Given the description of an element on the screen output the (x, y) to click on. 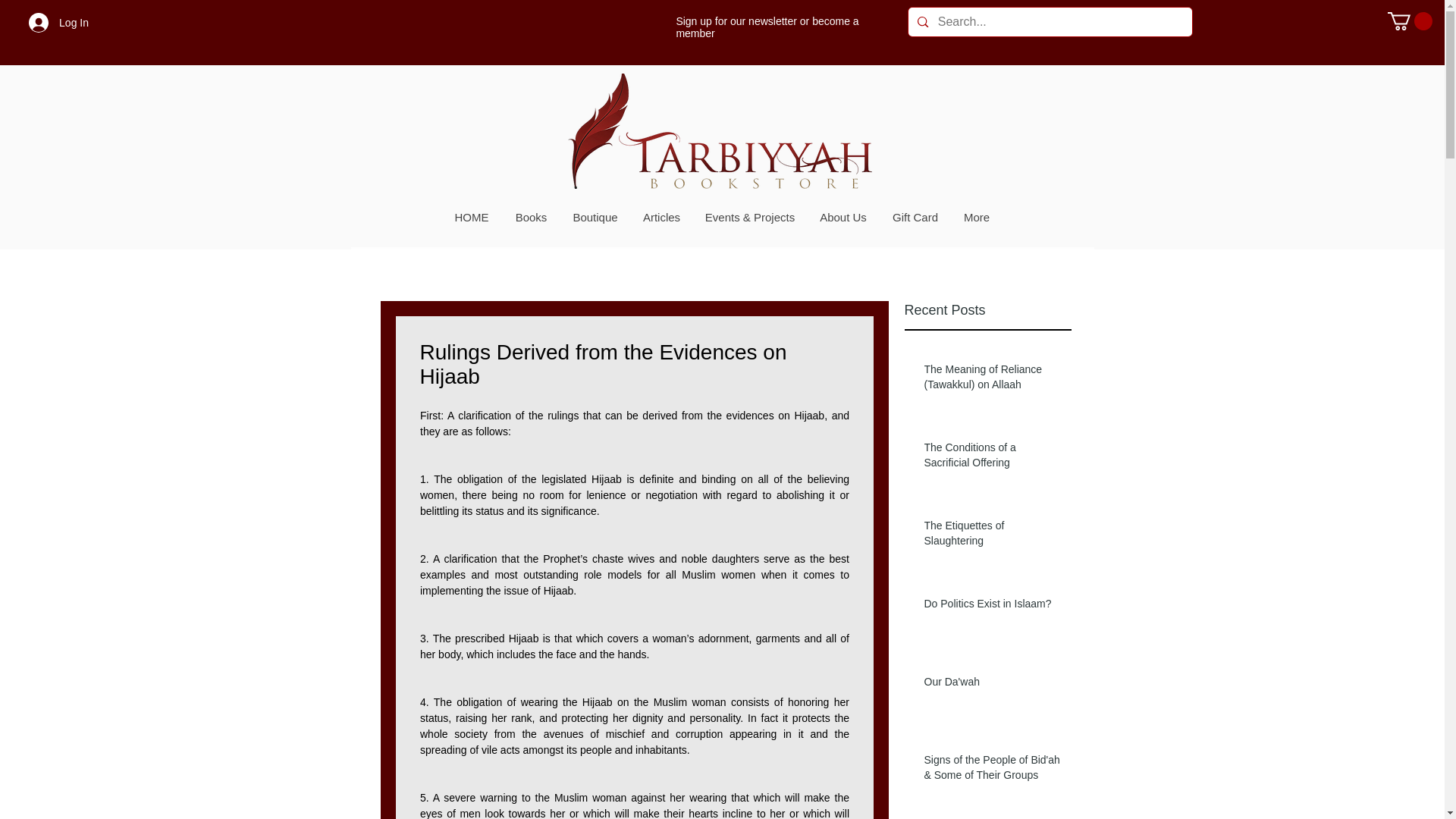
HOME (470, 217)
Do Politics Exist in Islaam? (992, 607)
Boutique (593, 217)
Books (531, 217)
The Conditions of a Sacrificial Offering (992, 457)
Sign up for our newsletter or become a member (767, 27)
Gift Card (914, 217)
About Us (842, 217)
Log In (58, 22)
Articles (660, 217)
